Given the description of an element on the screen output the (x, y) to click on. 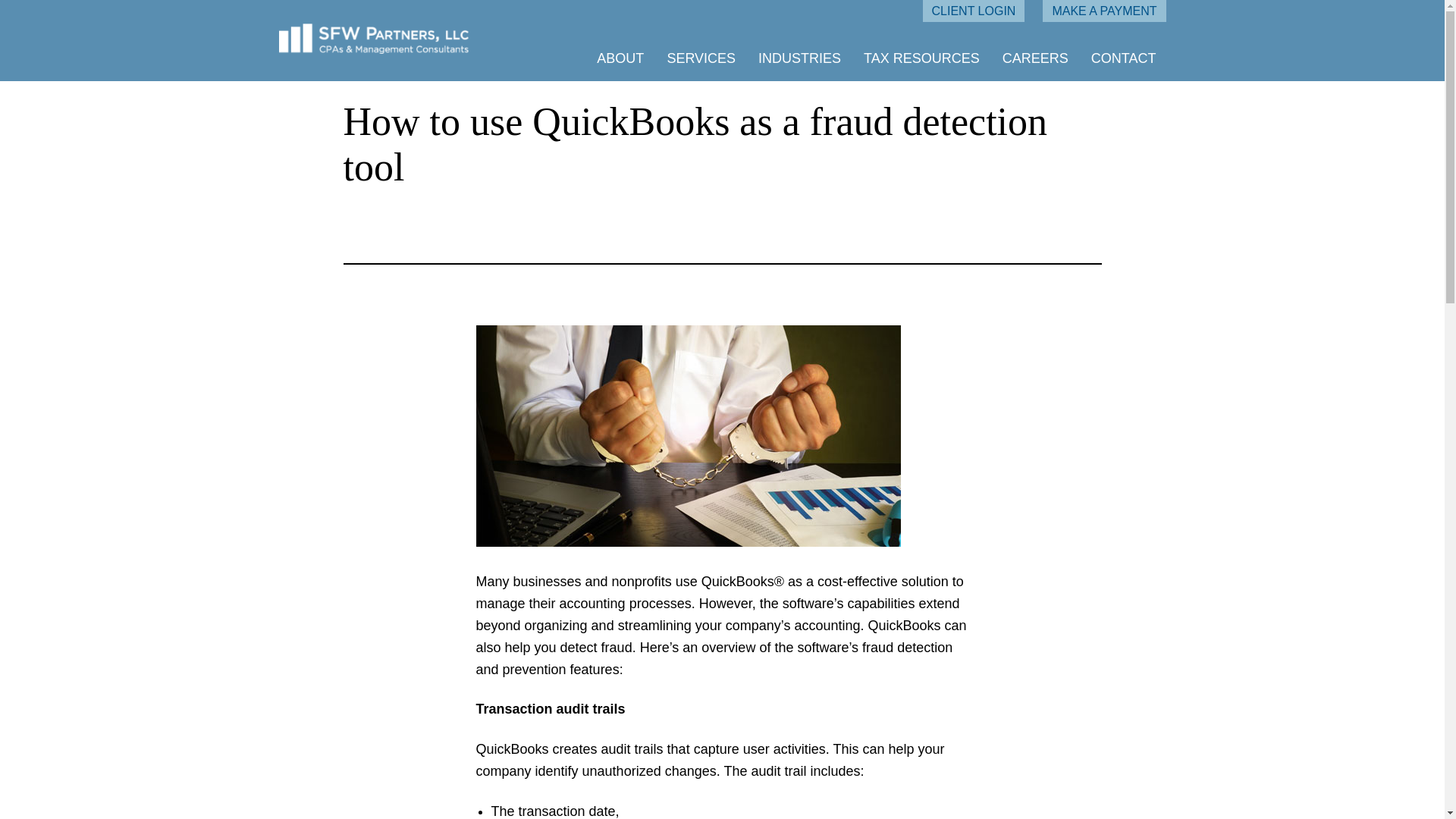
CLIENT LOGIN (974, 11)
MAKE A PAYMENT (1104, 11)
ABOUT (619, 58)
CONTACT (1123, 58)
INDUSTRIES (799, 58)
CAREERS (1035, 58)
SERVICES (700, 58)
TAX RESOURCES (921, 58)
